Given the description of an element on the screen output the (x, y) to click on. 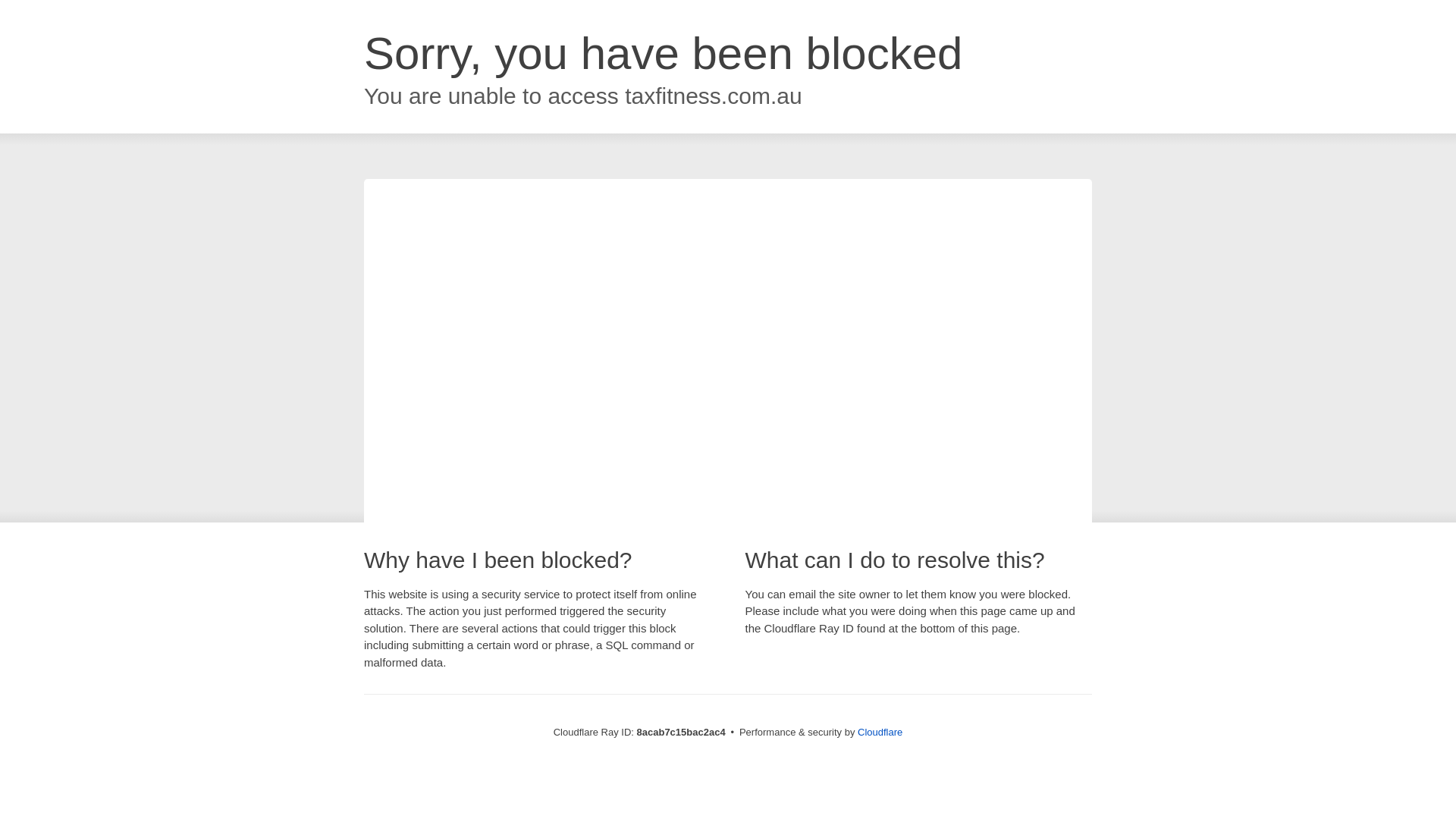
Cloudflare (879, 731)
